Given the description of an element on the screen output the (x, y) to click on. 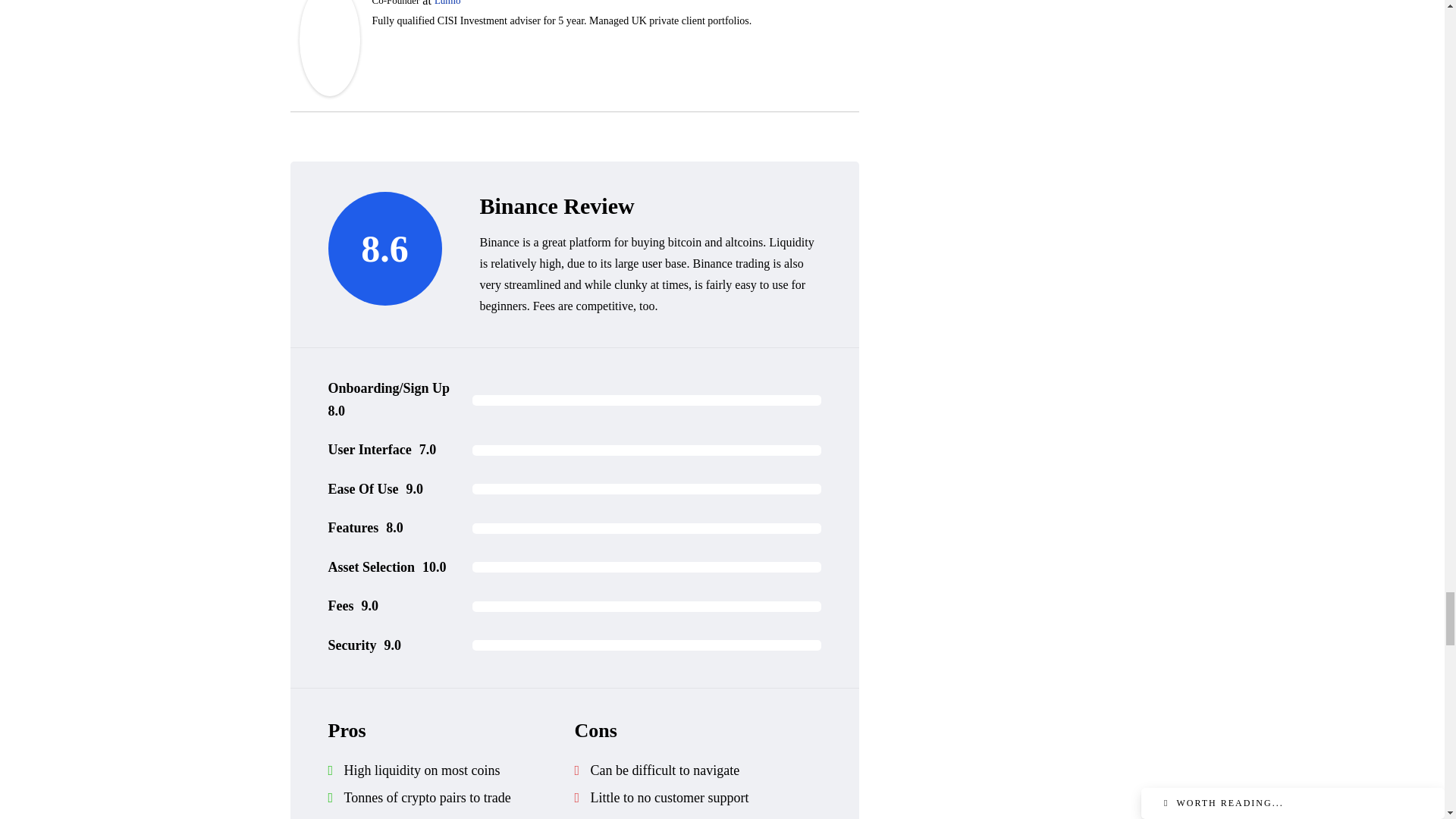
Lumio (447, 2)
Tom (328, 38)
